Given the description of an element on the screen output the (x, y) to click on. 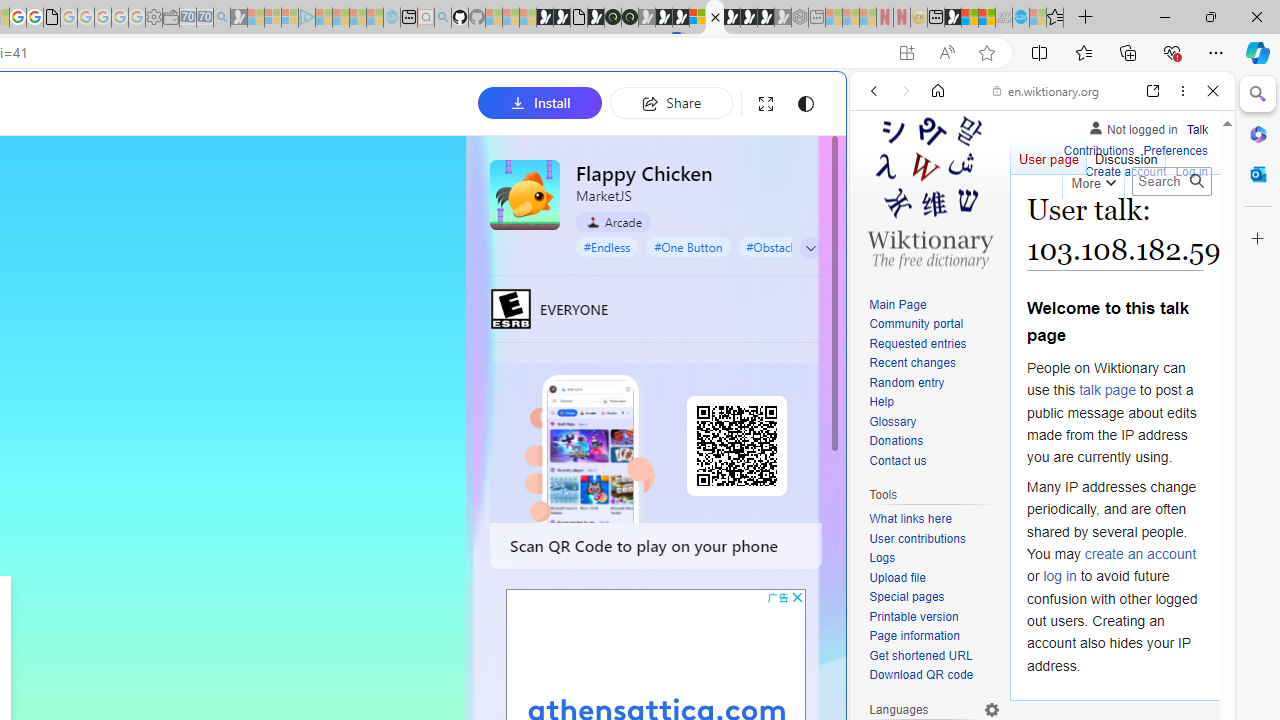
Donations (896, 441)
Play Free Online Games | Games from Microsoft Start (731, 17)
Flappy Chicken (525, 194)
Logs (934, 558)
Search Filter, IMAGES (939, 228)
User contributions (917, 538)
#Obstacle Course (792, 246)
Contact us (934, 461)
Class: expand-arrow neutral (810, 247)
Class: control (811, 248)
